Given the description of an element on the screen output the (x, y) to click on. 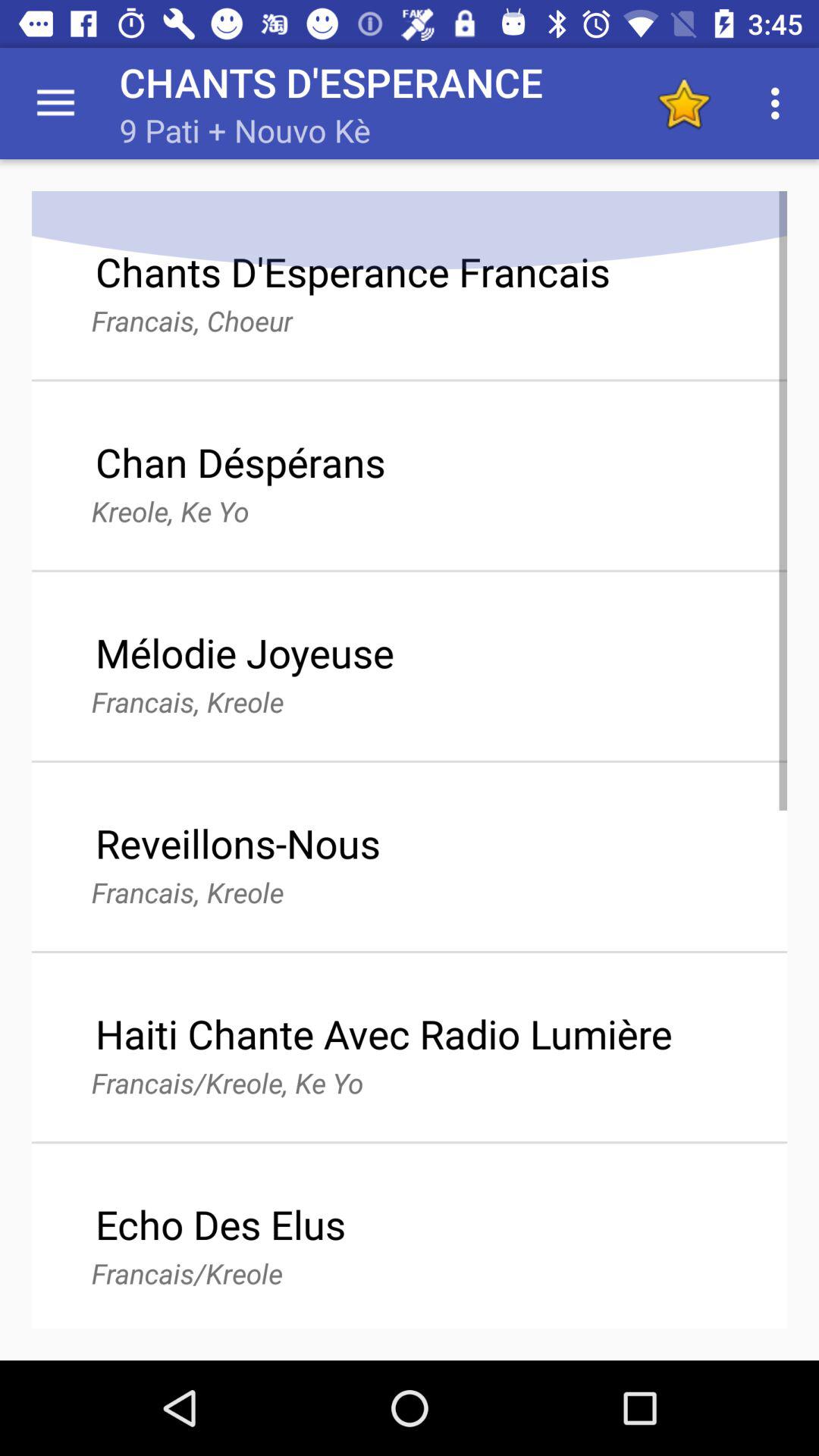
turn off echo des elus icon (220, 1223)
